Given the description of an element on the screen output the (x, y) to click on. 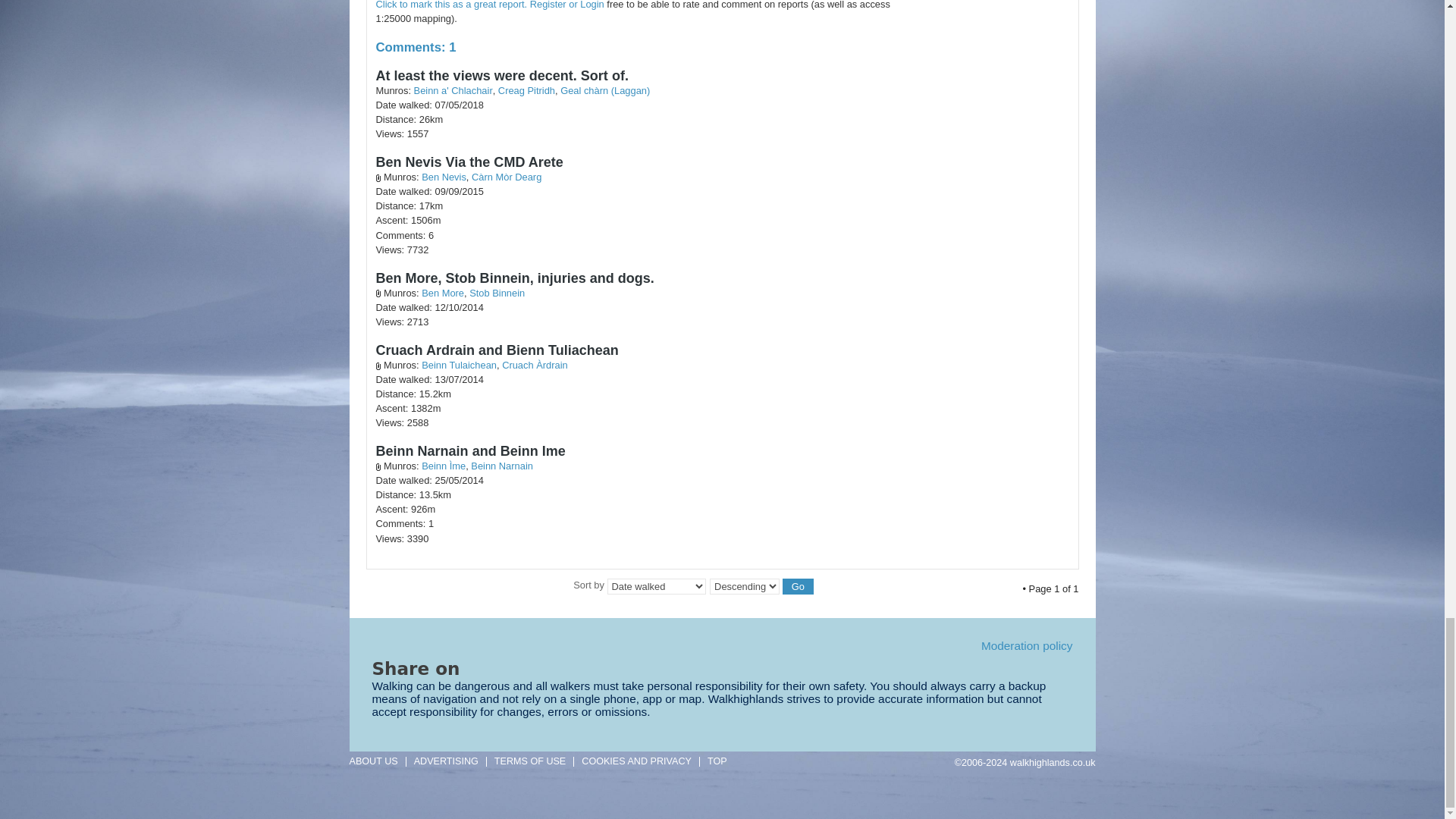
Go (798, 586)
